Given the description of an element on the screen output the (x, y) to click on. 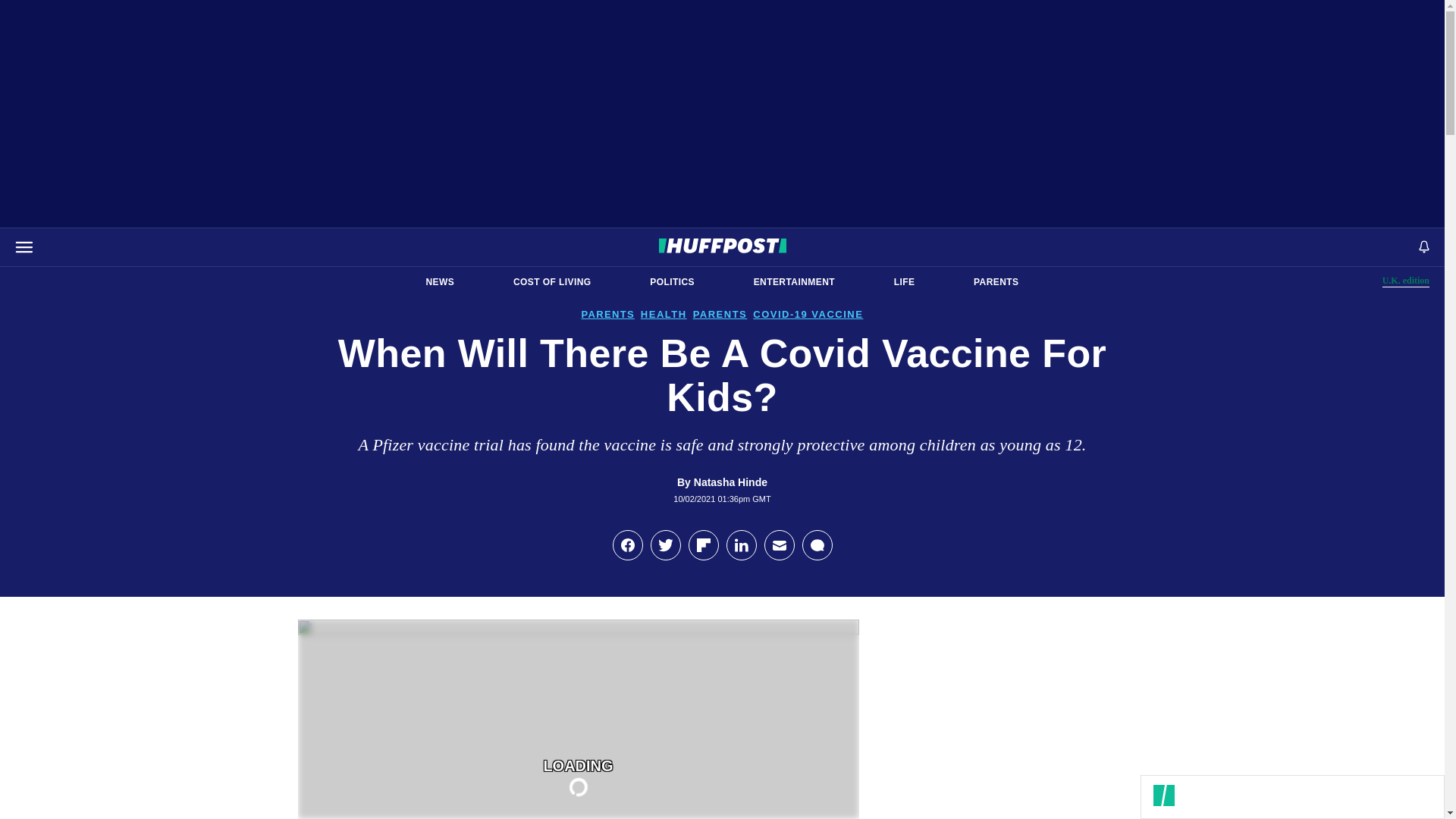
ENTERTAINMENT (794, 281)
PARENTS (995, 281)
COST OF LIVING (552, 281)
LIFE (904, 281)
NEWS (440, 281)
POLITICS (1405, 281)
